Given the description of an element on the screen output the (x, y) to click on. 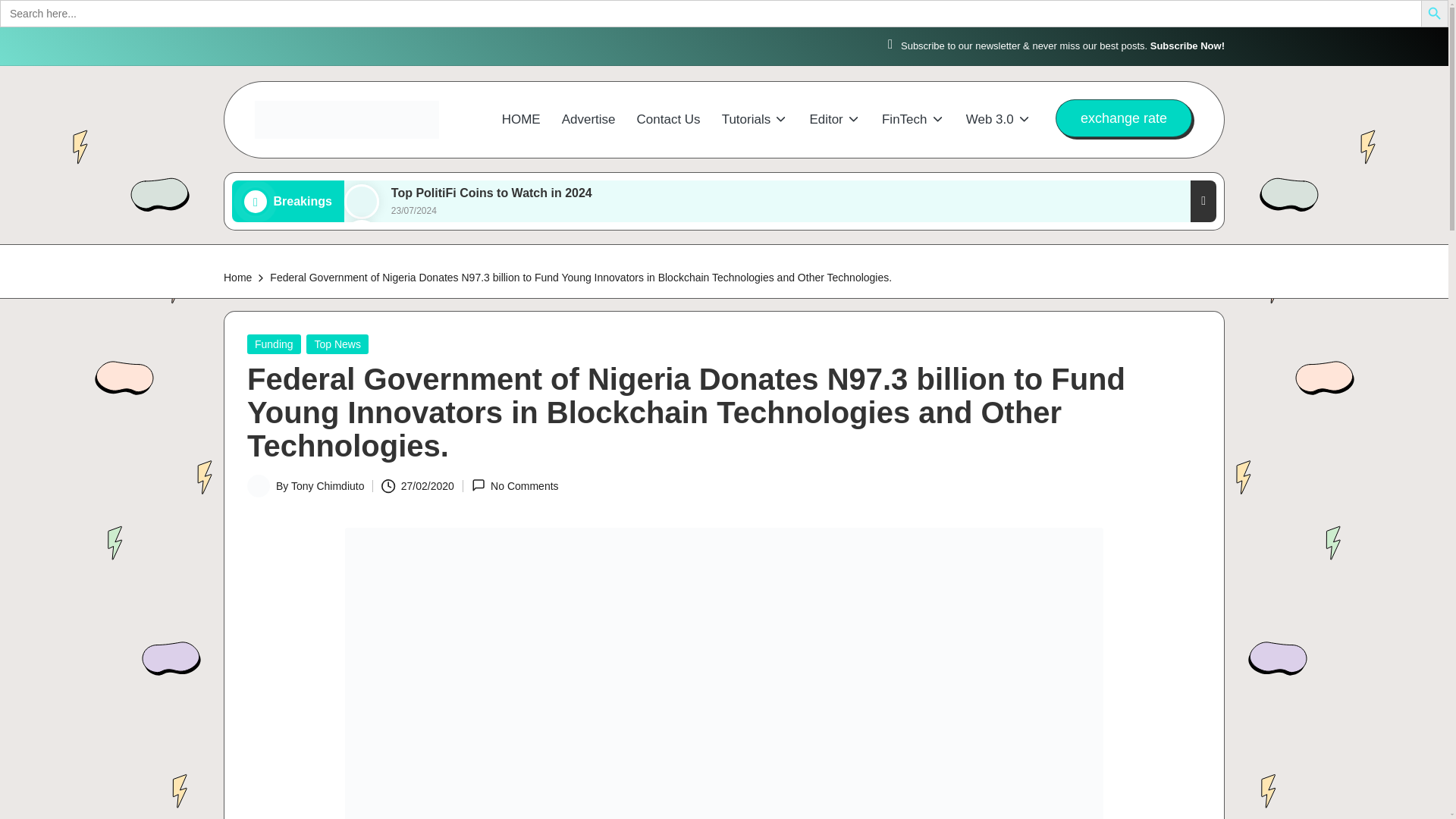
Advertise (588, 119)
Tutorials (755, 119)
View all posts by Tony Chimdiuto (328, 485)
HOME (521, 119)
Contact Us (668, 119)
Subscribe Now! (1187, 46)
